Given the description of an element on the screen output the (x, y) to click on. 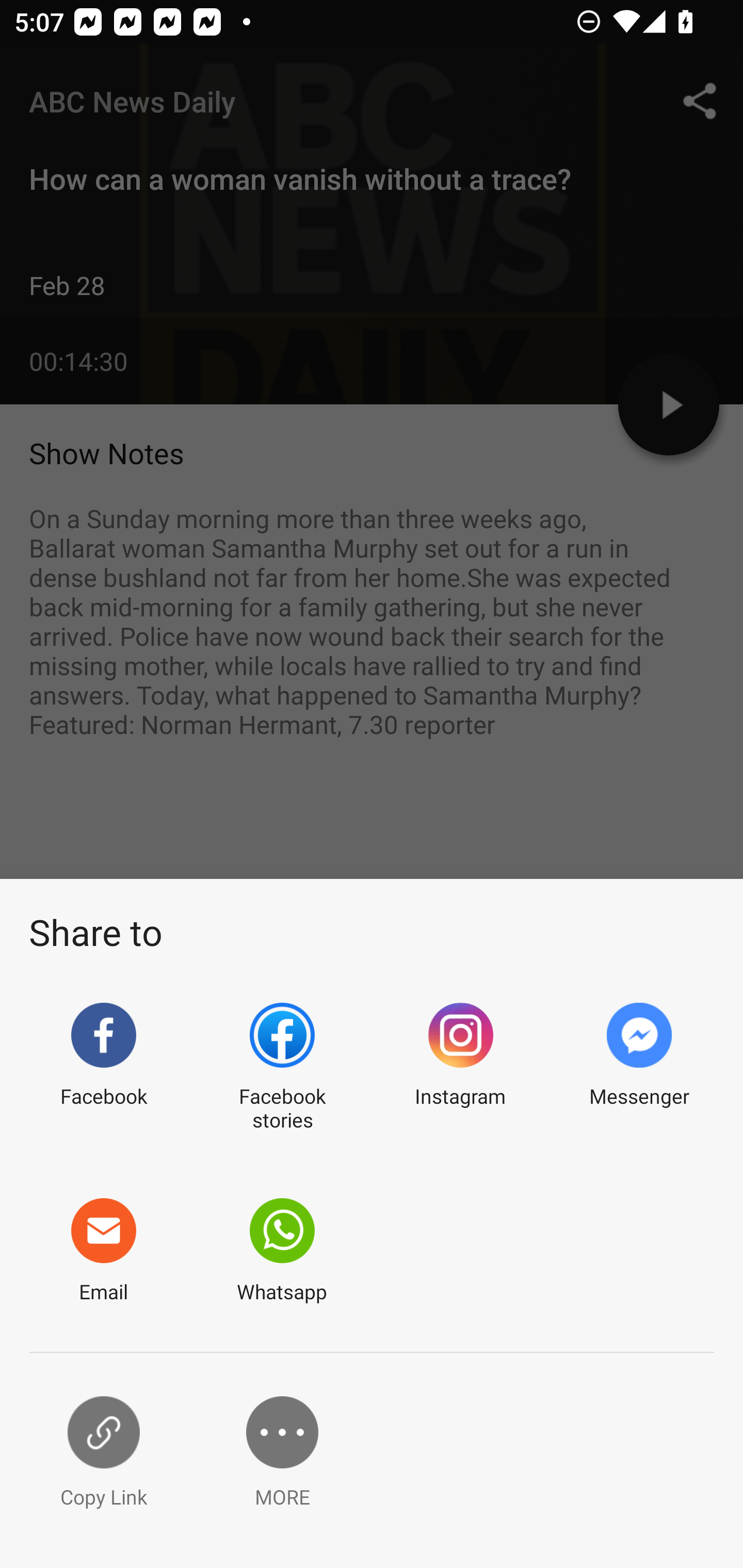
Facebook (103, 1067)
Facebook stories (282, 1067)
Instagram (460, 1067)
Messenger (638, 1067)
Email (103, 1251)
Whatsapp (282, 1251)
Copy Link (103, 1453)
MORE (282, 1453)
